Given the description of an element on the screen output the (x, y) to click on. 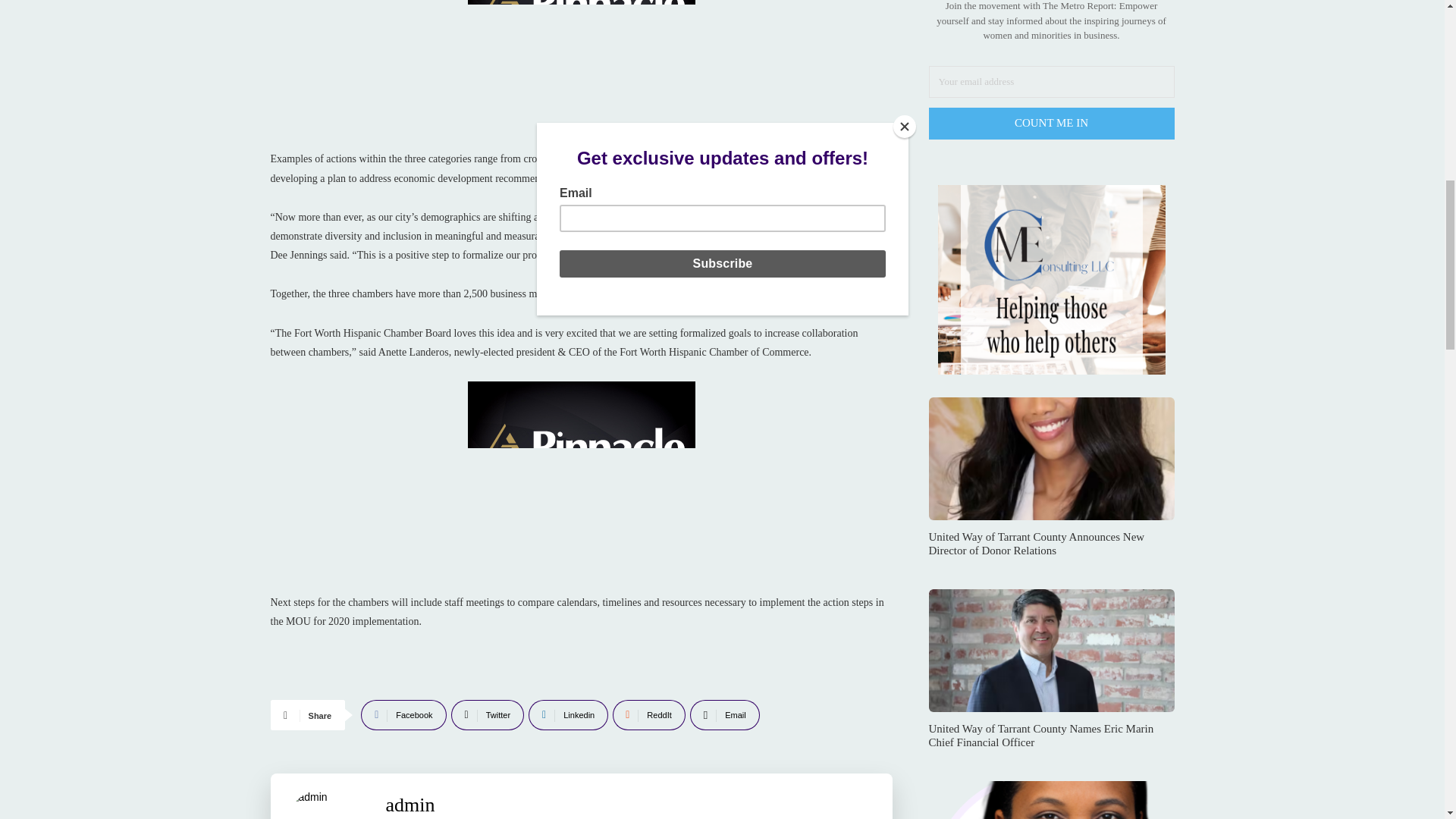
Email (725, 715)
ReddIt (648, 715)
ReddIt (648, 715)
Email (725, 715)
Twitter (487, 715)
admin (327, 804)
Facebook (403, 715)
Facebook (403, 715)
Linkedin (568, 715)
Twitter (487, 715)
Changing the Narrative: Cortney Ketchum (1050, 800)
